Given the description of an element on the screen output the (x, y) to click on. 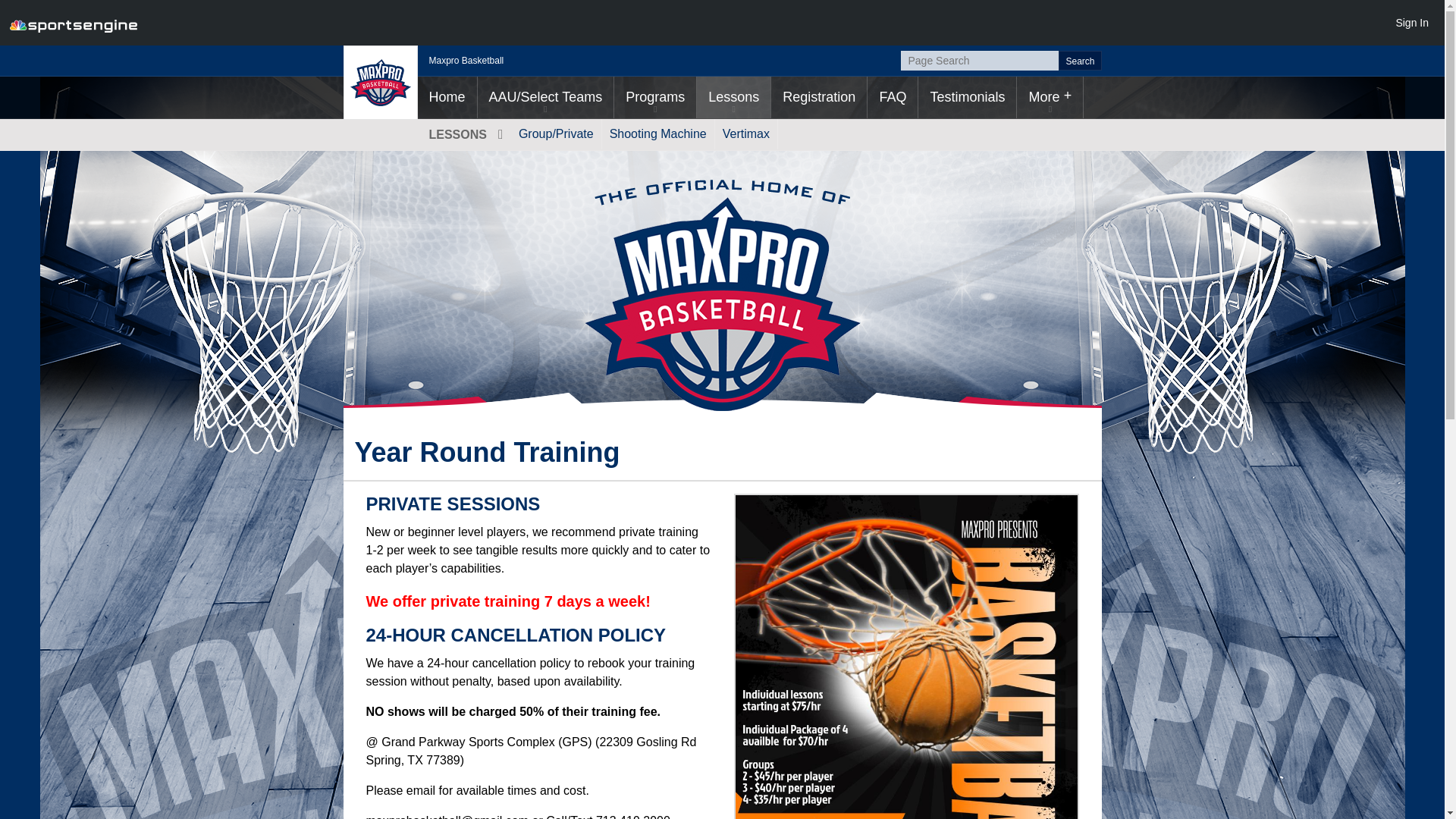
click to go to 'Shooting Machine' (658, 133)
Registration (818, 96)
Shooting Machine (658, 133)
click to go to '365 Elite' (545, 96)
FAQ (892, 96)
click to go to 'Year Round Training' (733, 96)
SportsEngine (73, 22)
click to go to 'Frequently Asked Questions' (892, 96)
Home (446, 96)
click to go to 'Home' (446, 96)
